Given the description of an element on the screen output the (x, y) to click on. 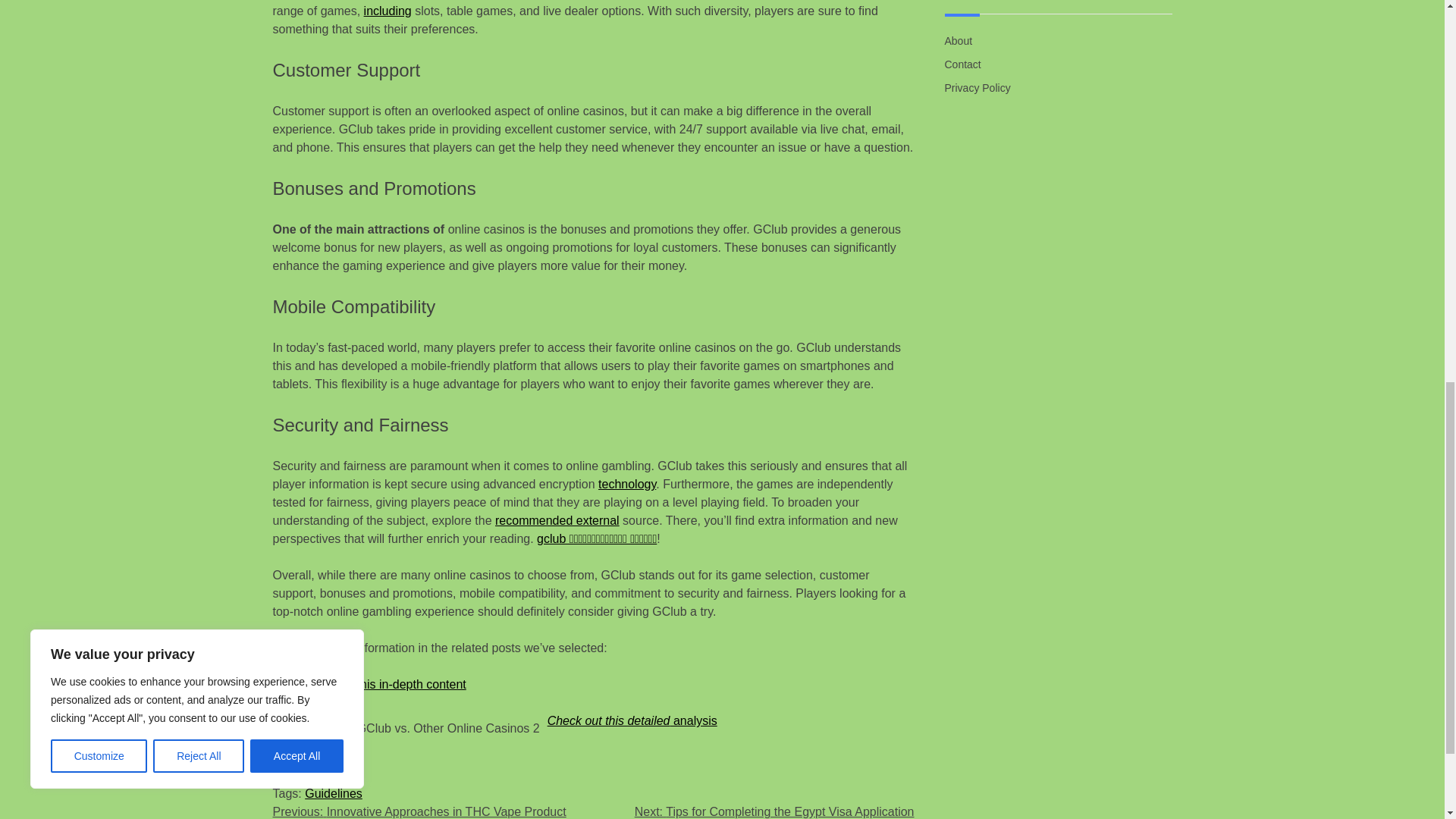
Guidelines (333, 793)
recommended external (557, 520)
Check out this detailed analysis (632, 720)
including (388, 10)
technology (627, 483)
Grasp ahead (308, 757)
Click to access this in-depth content (369, 684)
